Given the description of an element on the screen output the (x, y) to click on. 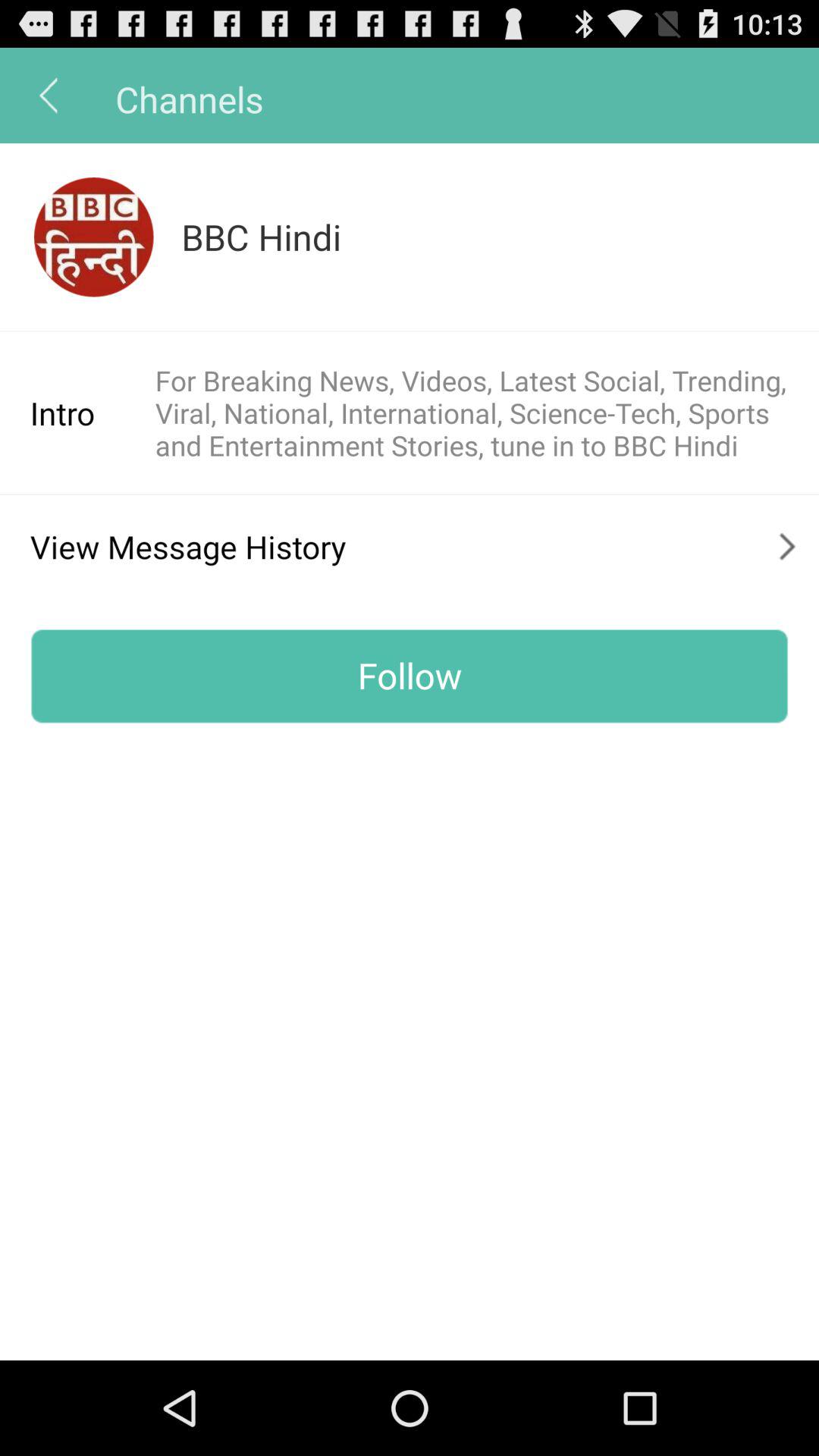
turn off the follow item (409, 676)
